Given the description of an element on the screen output the (x, y) to click on. 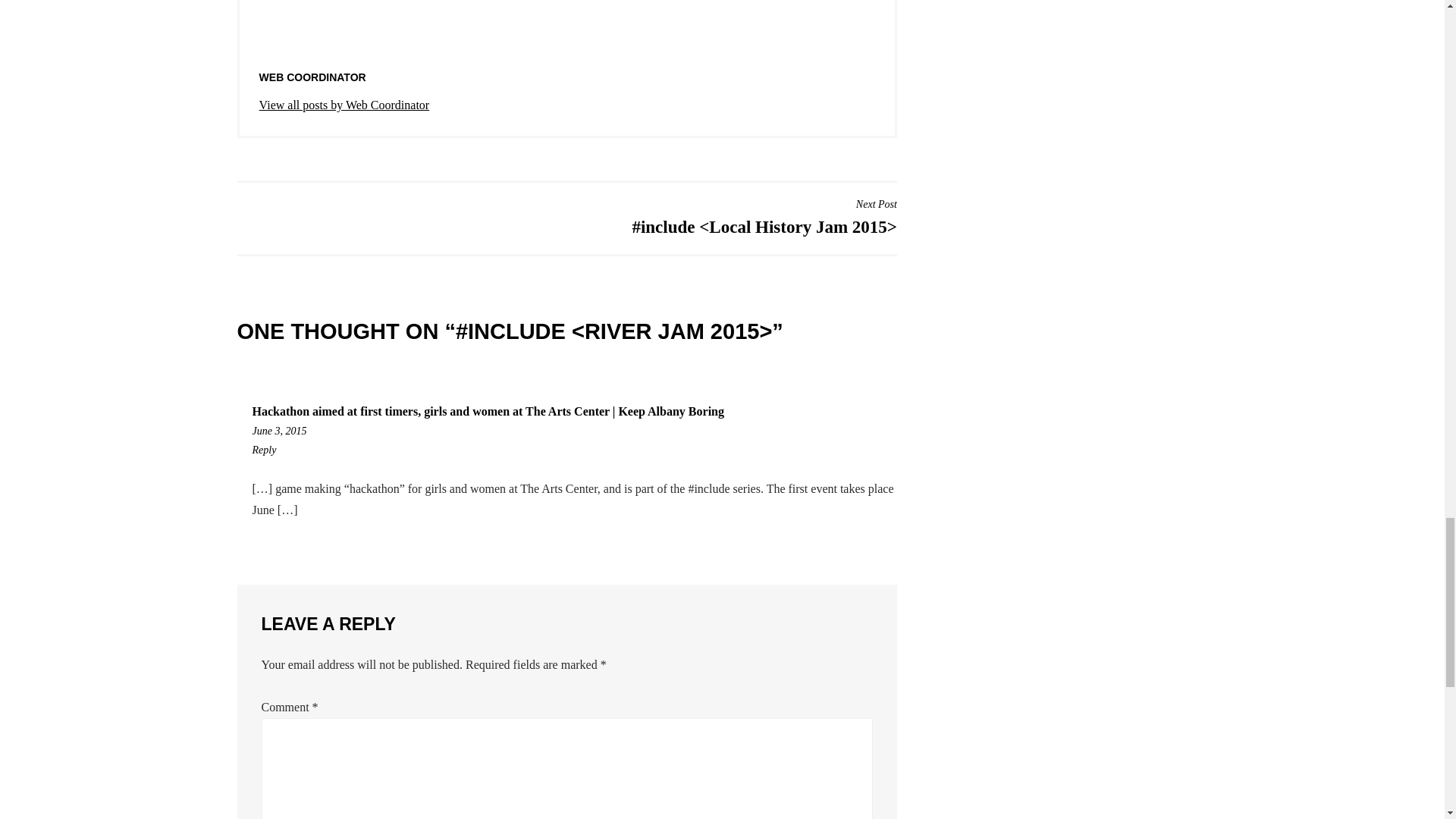
View all posts by Web Coordinator (573, 431)
Reply (344, 105)
